Given the description of an element on the screen output the (x, y) to click on. 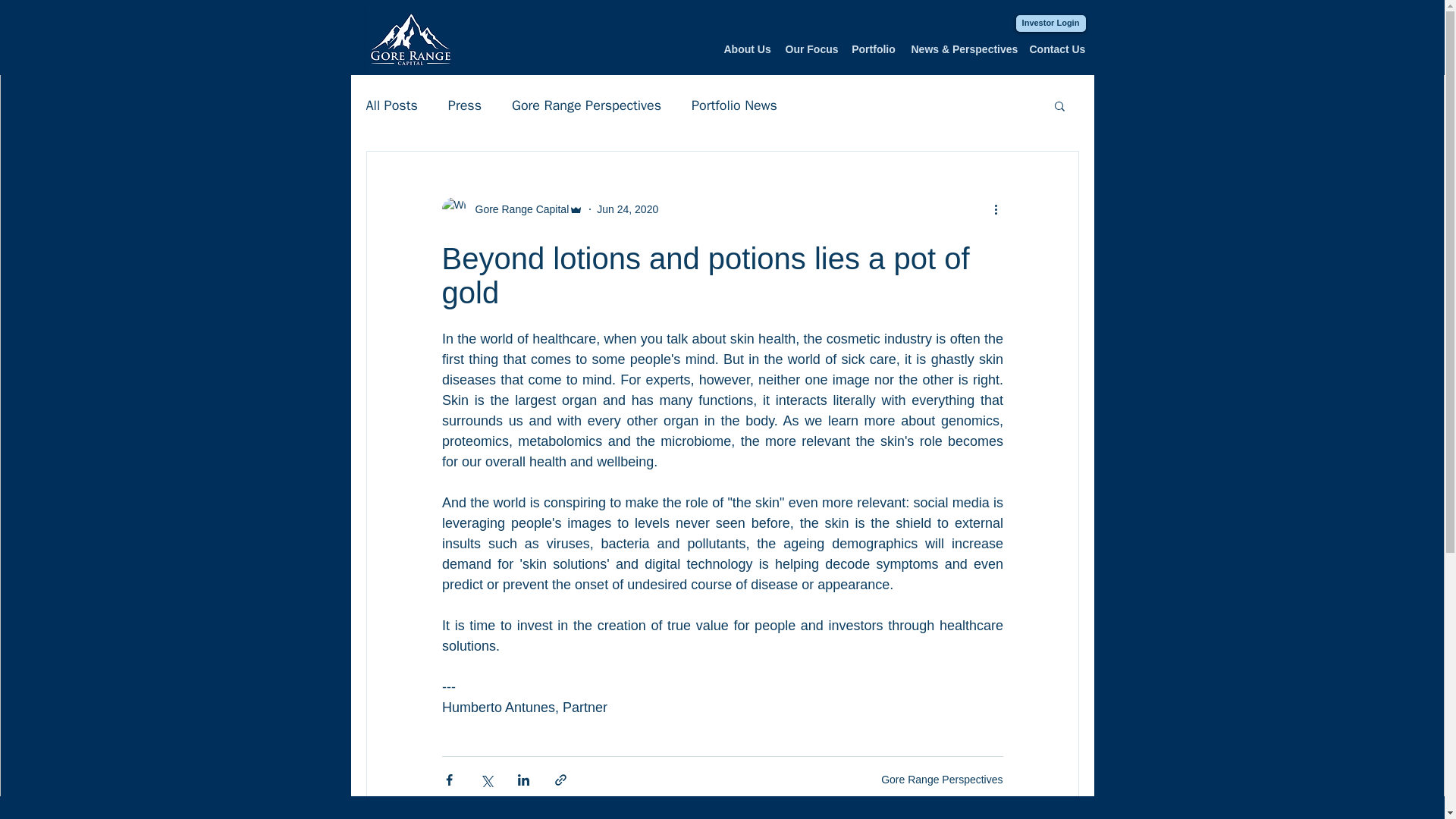
Portfolio (872, 48)
Gore Range Perspectives (586, 105)
Investor Login (1051, 23)
Press (464, 105)
All Posts (390, 105)
Gore Range Capital (512, 209)
Gore Range Capital (517, 209)
Jun 24, 2020 (627, 209)
Contact Us (1057, 48)
About Us (746, 48)
Portfolio News (734, 105)
gore range background blue.png (409, 39)
Our Focus (810, 48)
Gore Range Perspectives (941, 779)
